Given the description of an element on the screen output the (x, y) to click on. 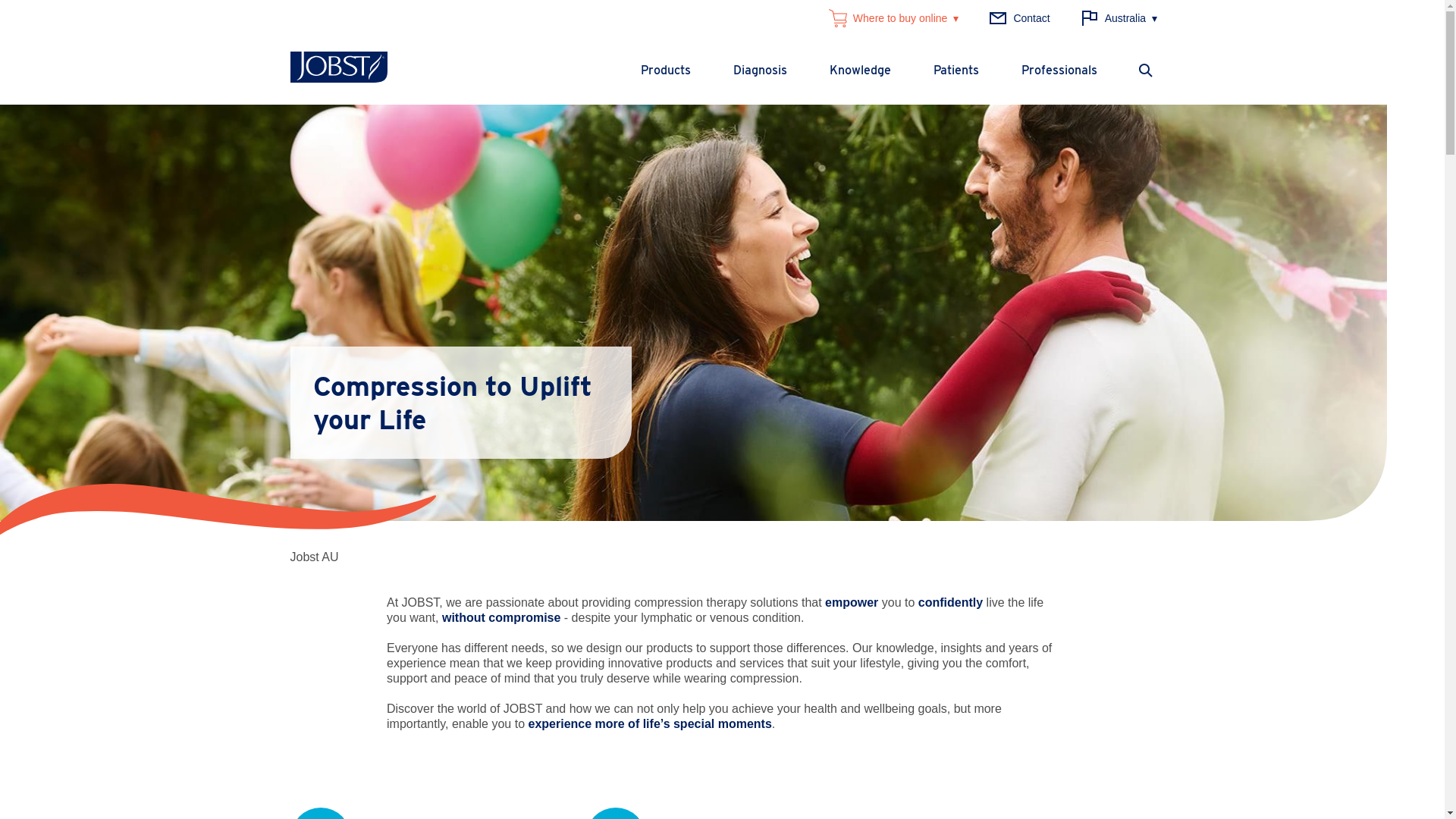
Patients Element type: text (955, 70)
Professionals Element type: text (1058, 70)
Products Element type: text (665, 70)
Diagnosis Element type: text (759, 70)
Knowledge Element type: text (860, 70)
Contact Element type: text (1018, 18)
